Given the description of an element on the screen output the (x, y) to click on. 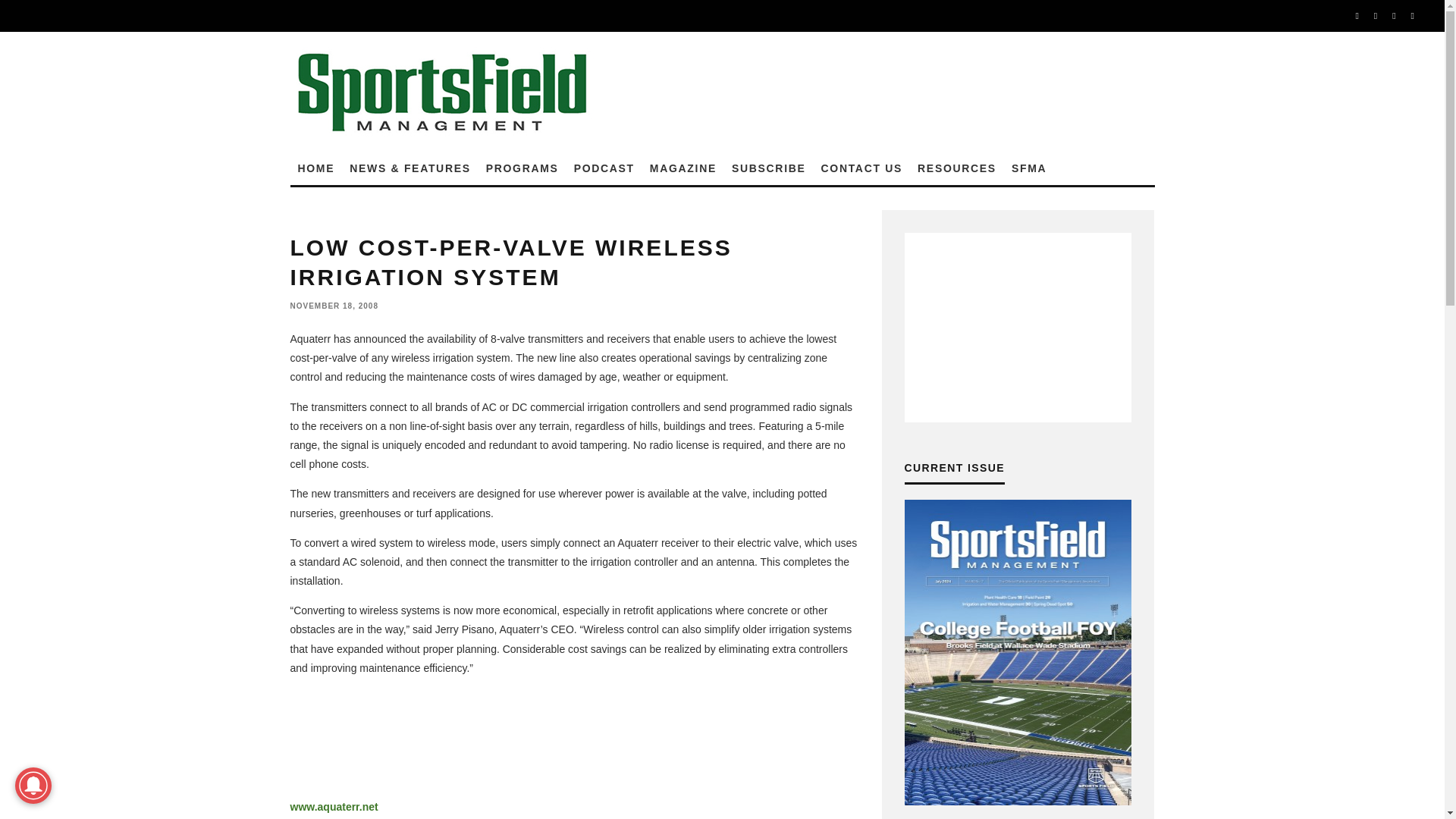
PROGRAMS (522, 168)
3rd party ad content (884, 91)
SUBSCRIBE (768, 168)
SFMA (1029, 168)
3rd party ad content (574, 737)
HOME (315, 168)
RESOURCES (957, 168)
3rd party ad content (1017, 327)
CONTACT US (862, 168)
MAGAZINE (682, 168)
PODCAST (604, 168)
